Given the description of an element on the screen output the (x, y) to click on. 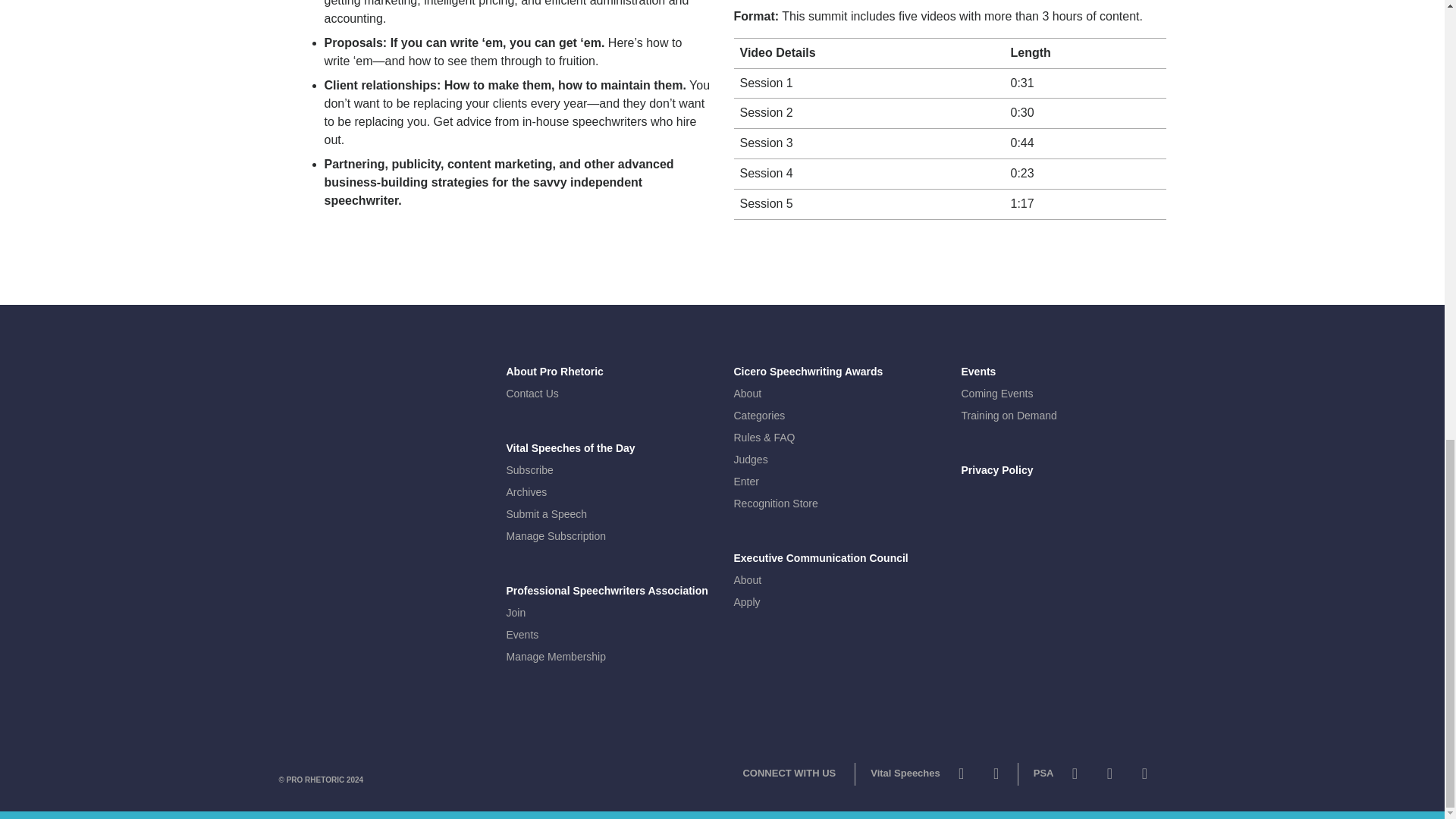
Twitter (961, 776)
Vital Speeches of the Day (570, 448)
About Pro Rhetoric (555, 371)
Facebook (996, 776)
Contact Us (532, 393)
Submit a Speech (547, 513)
LinkedIn (1144, 776)
Archives (526, 491)
Subscribe (529, 469)
YouTube (1109, 776)
